Given the description of an element on the screen output the (x, y) to click on. 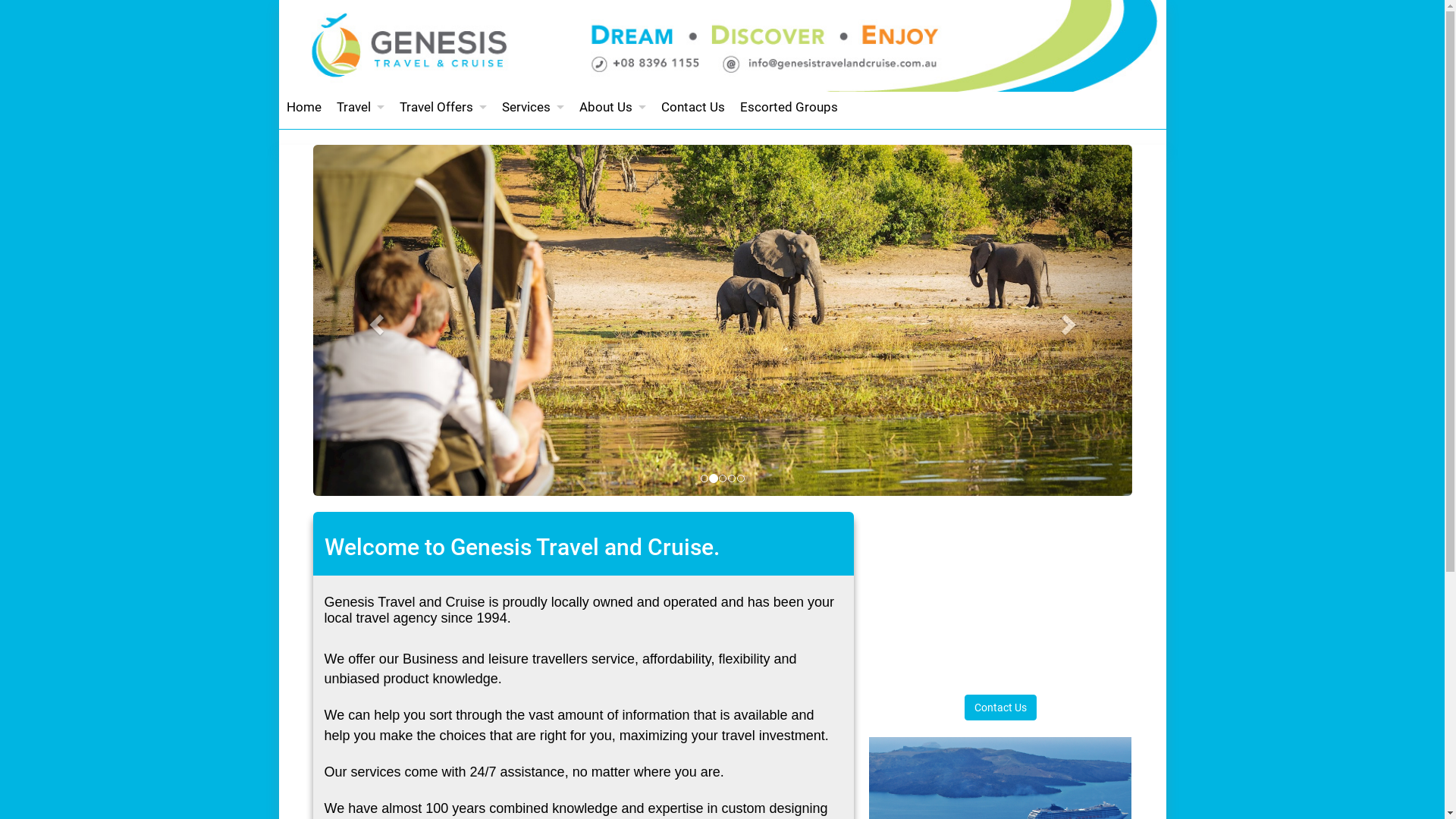
Contact Us Element type: text (1000, 707)
Next Element type: text (1069, 319)
Previous Element type: text (373, 319)
Travel Offers Element type: text (442, 106)
Services Element type: text (532, 106)
Home Element type: text (304, 106)
Travel Element type: text (360, 106)
Escorted Groups Element type: text (788, 106)
About Us Element type: text (612, 106)
Contact Us Element type: text (692, 106)
